Given the description of an element on the screen output the (x, y) to click on. 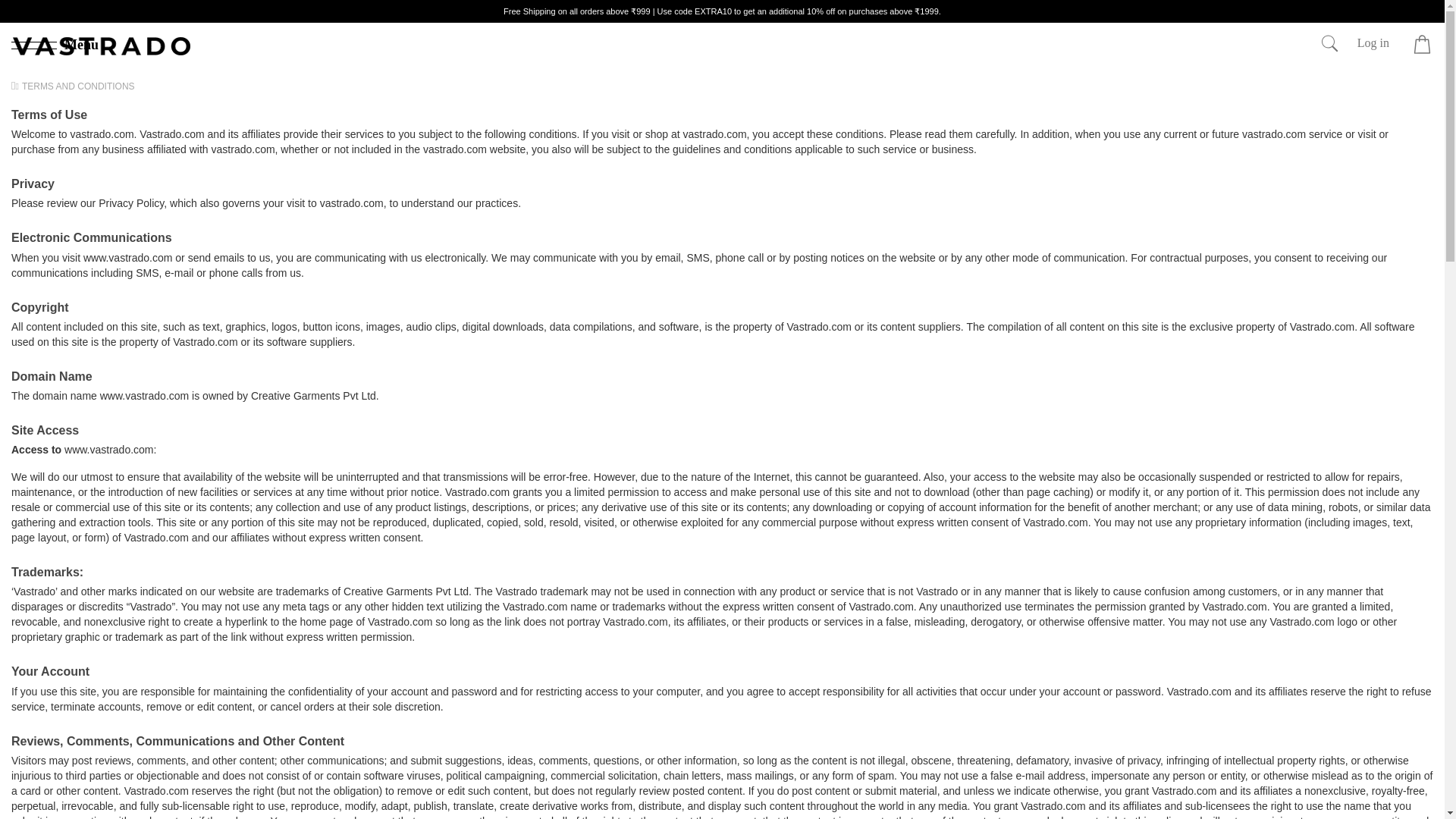
Cart (1417, 45)
My Account (1376, 49)
Vastrado (101, 46)
